Given the description of an element on the screen output the (x, y) to click on. 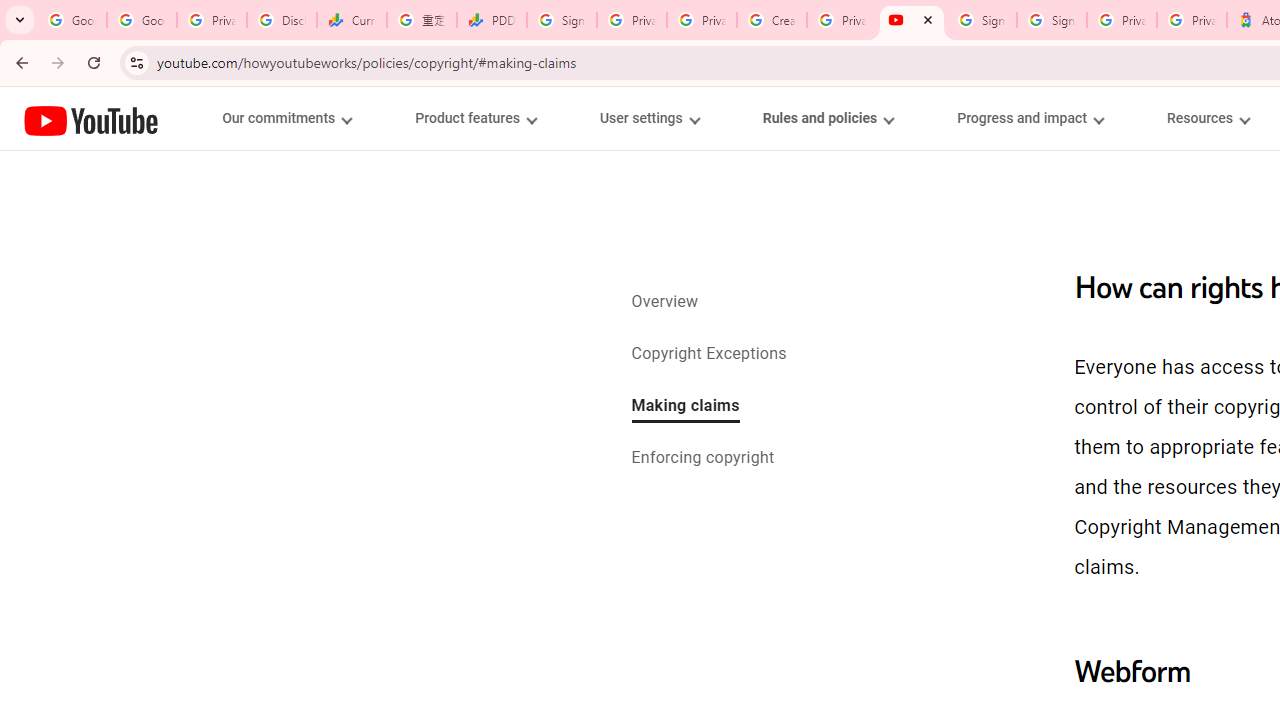
YouTube (91, 120)
Product features menupopup (475, 118)
Our commitments menupopup (286, 118)
How YouTube Works (91, 118)
Privacy Checkup (701, 20)
Sign in - Google Accounts (982, 20)
Enforcing copyright (702, 459)
